Given the description of an element on the screen output the (x, y) to click on. 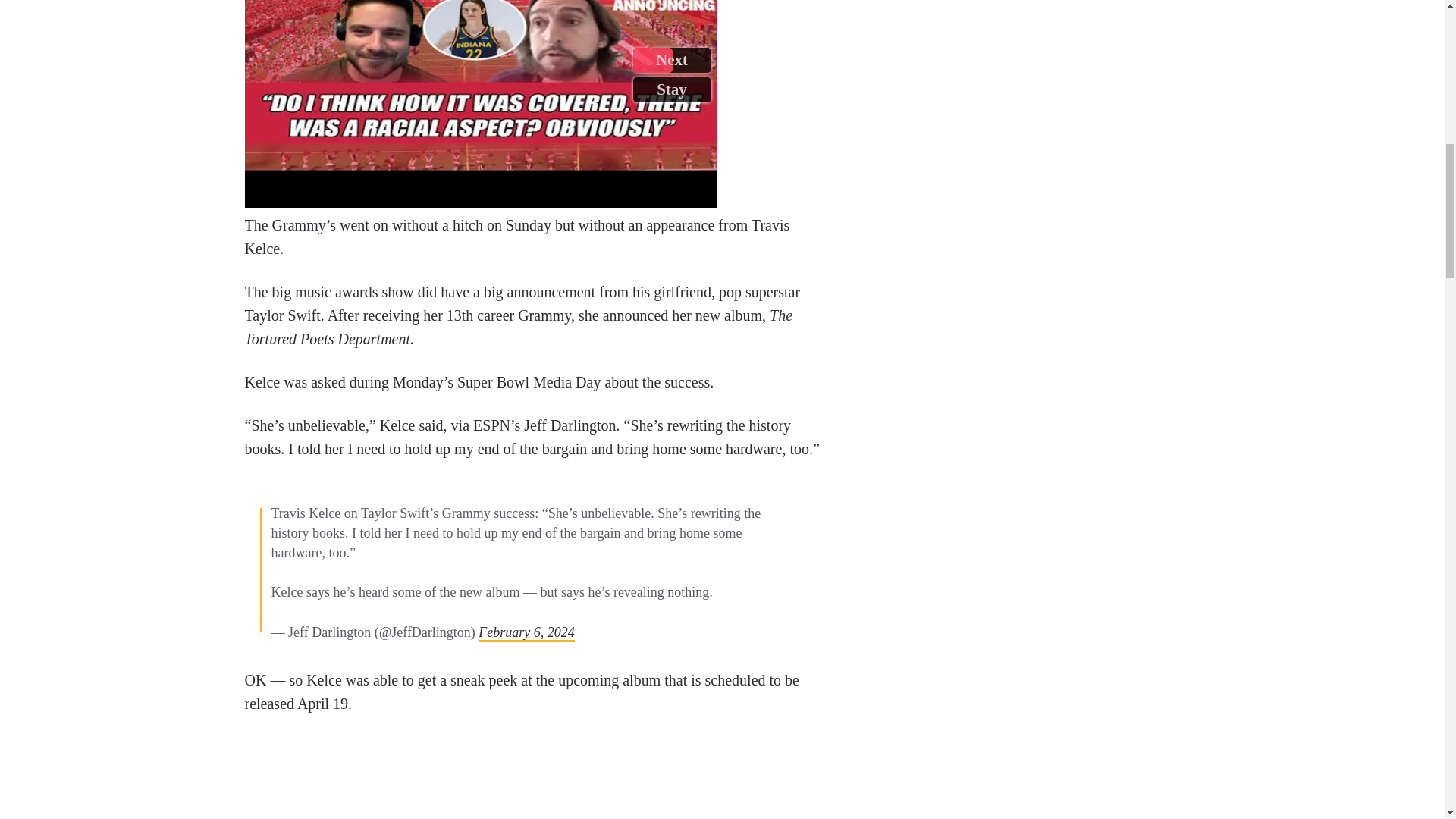
Taylor Swift Announces NEW ALBUM After 13th GRAMMY Win (534, 777)
